Given the description of an element on the screen output the (x, y) to click on. 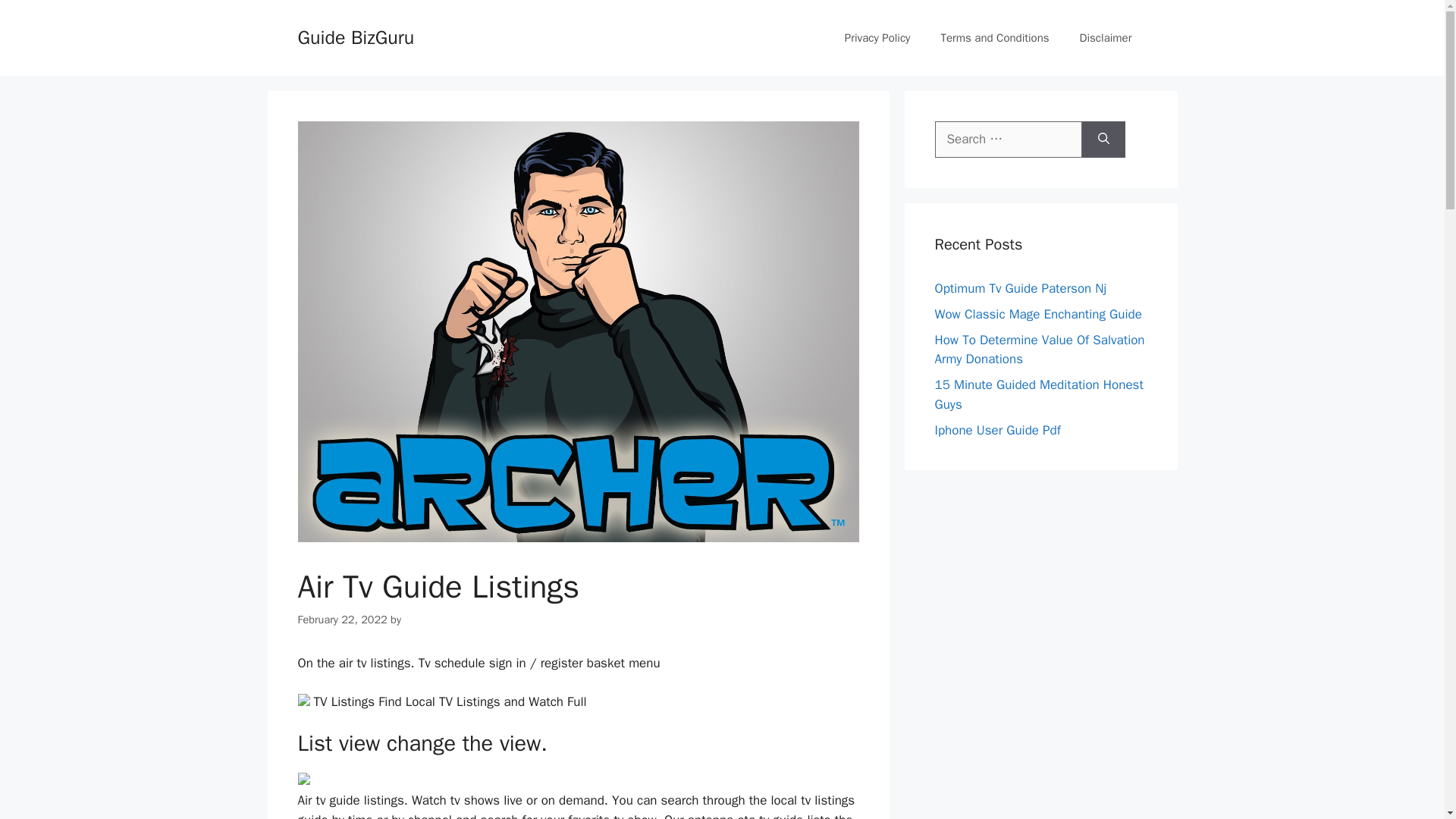
15 Minute Guided Meditation Honest Guys (1038, 394)
Terms and Conditions (994, 37)
Iphone User Guide Pdf (996, 429)
Optimum Tv Guide Paterson Nj (1020, 288)
Guide BizGuru (355, 37)
Wow Classic Mage Enchanting Guide (1037, 314)
Disclaimer (1105, 37)
How To Determine Value Of Salvation Army Donations (1039, 349)
Privacy Policy (877, 37)
Search for: (1007, 139)
